Given the description of an element on the screen output the (x, y) to click on. 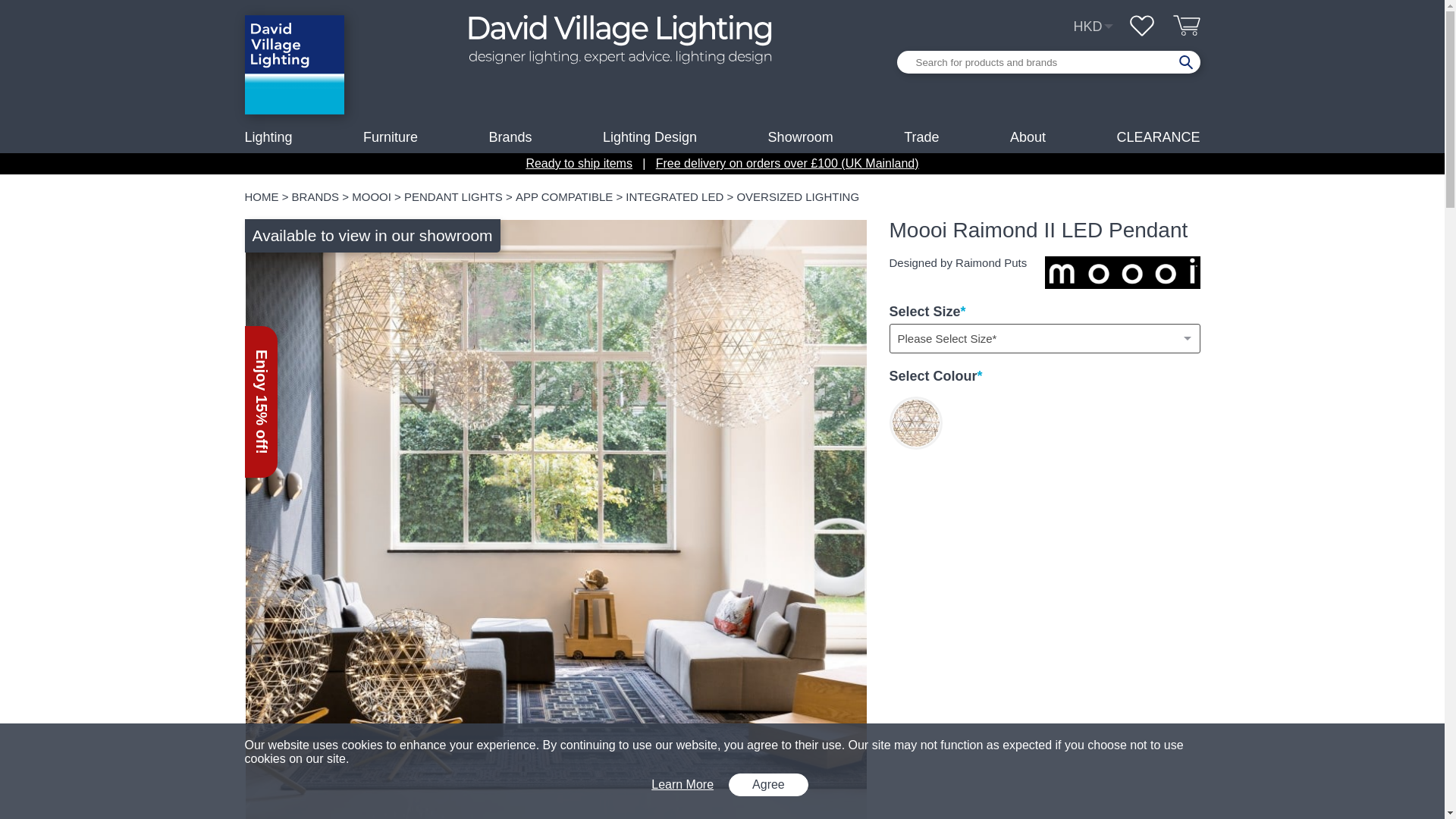
Furniture (389, 136)
Lighting (268, 136)
